Given the description of an element on the screen output the (x, y) to click on. 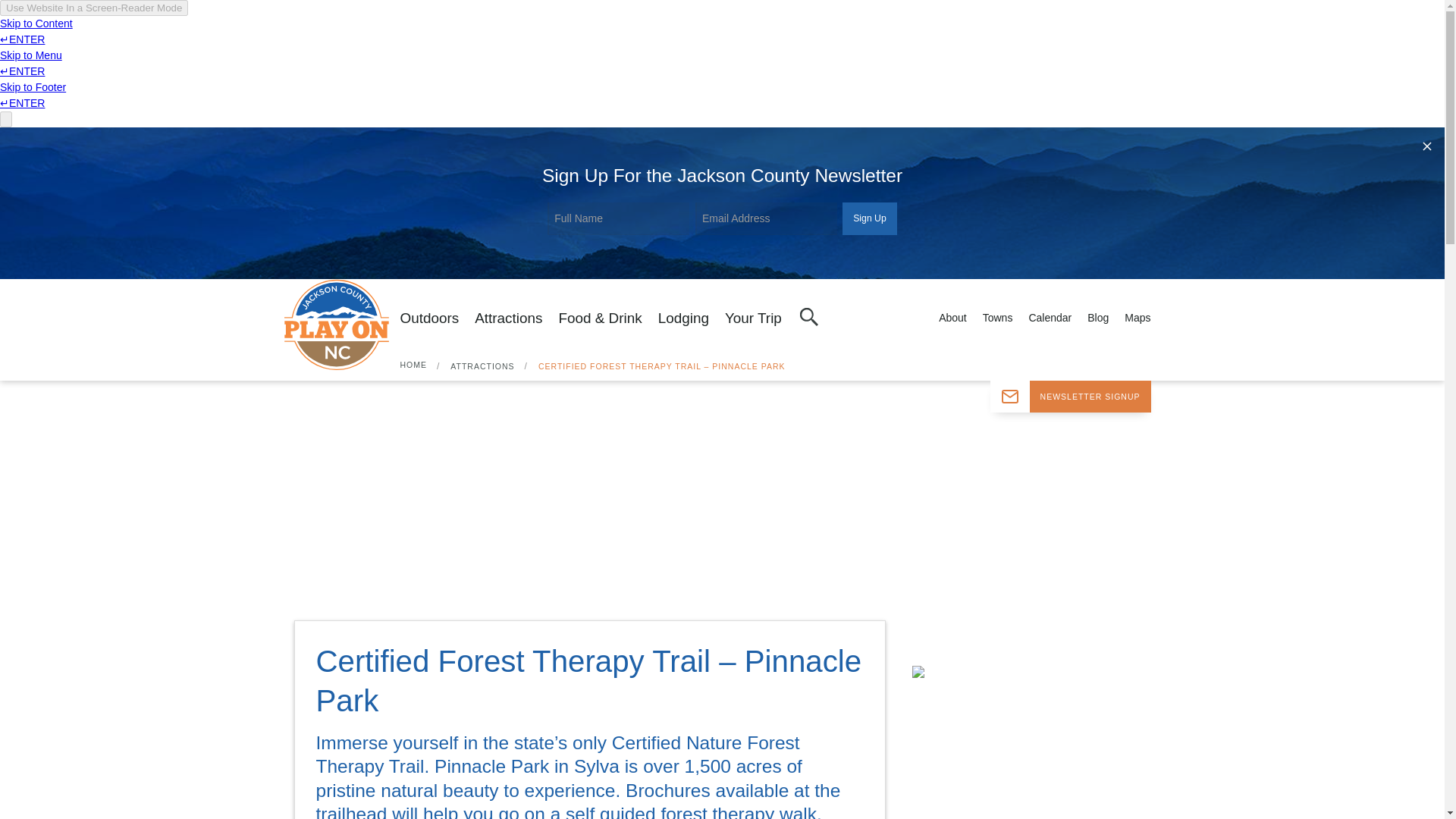
Sign Up (869, 218)
Your Trip (753, 318)
Discover Jackson NC (342, 323)
Outdoors (430, 318)
Lodging (683, 318)
Sign Up (869, 218)
Visit the Front Page (342, 323)
Attractions (507, 318)
